Given the description of an element on the screen output the (x, y) to click on. 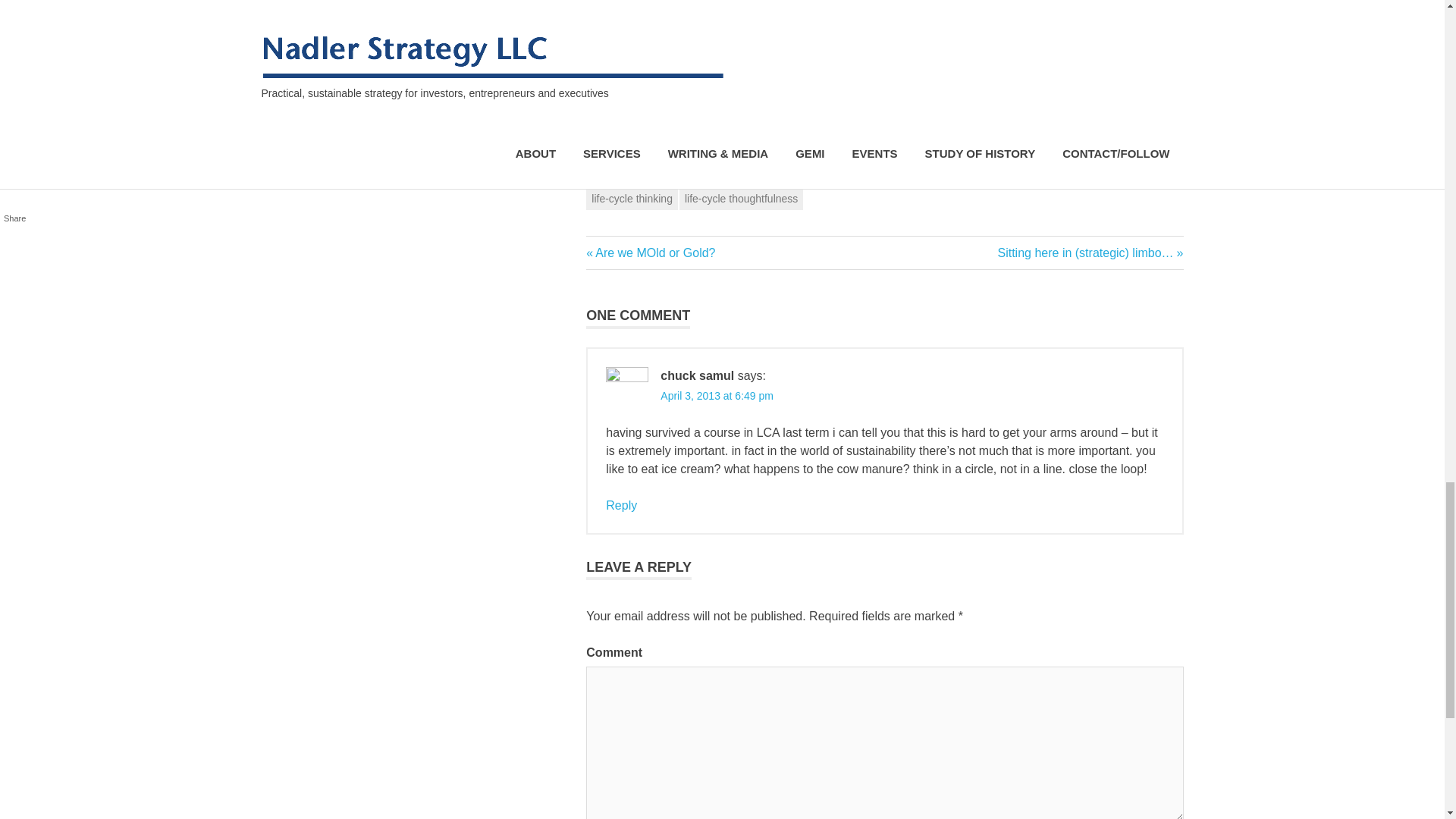
Reply (650, 252)
ERM (621, 504)
life-cycle thinking (1146, 140)
life-cycle thoughtfulness (632, 199)
April 3, 2013 at 6:49 pm (741, 199)
